Given the description of an element on the screen output the (x, y) to click on. 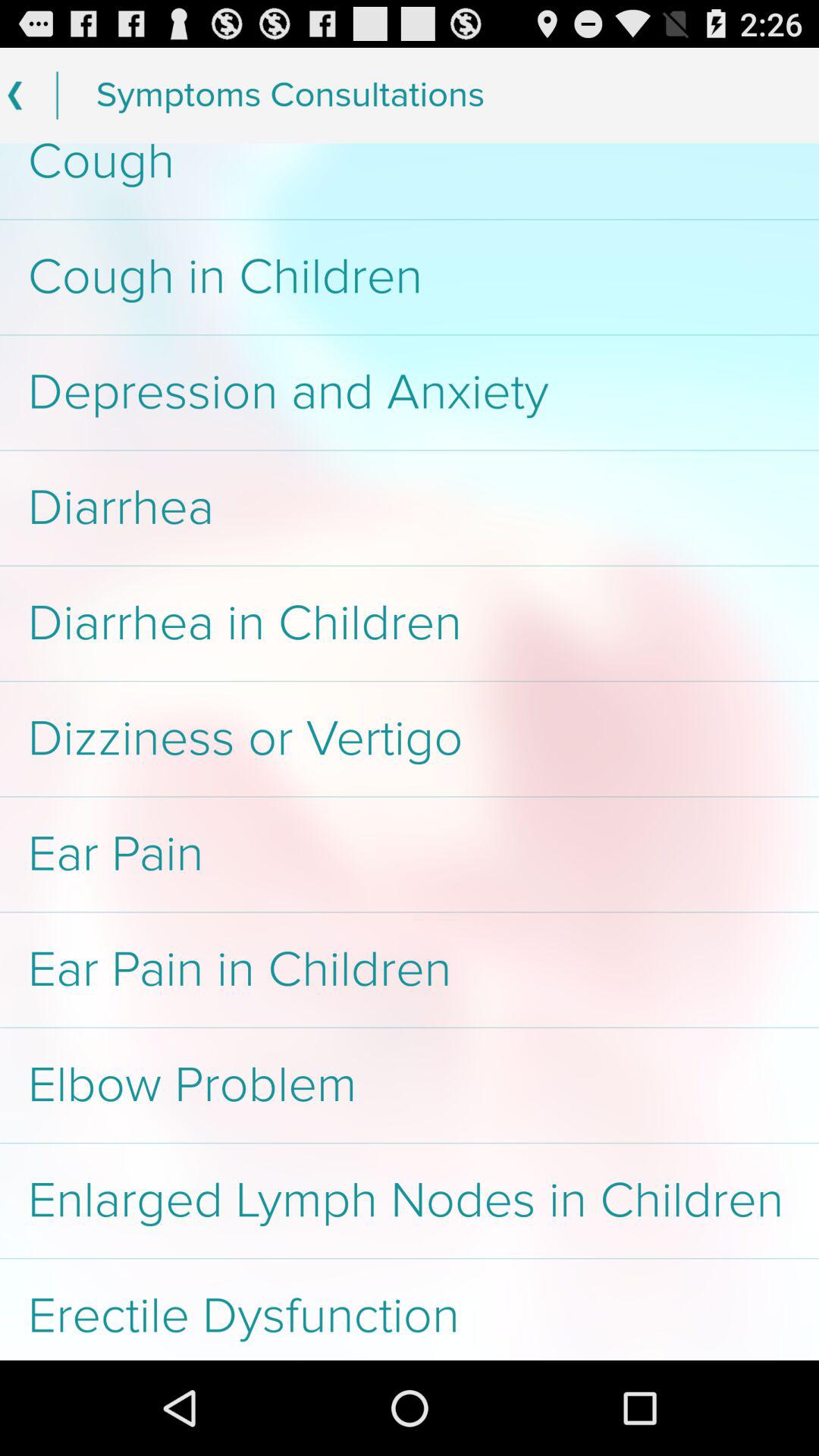
click the app below elbow problem app (409, 1200)
